Given the description of an element on the screen output the (x, y) to click on. 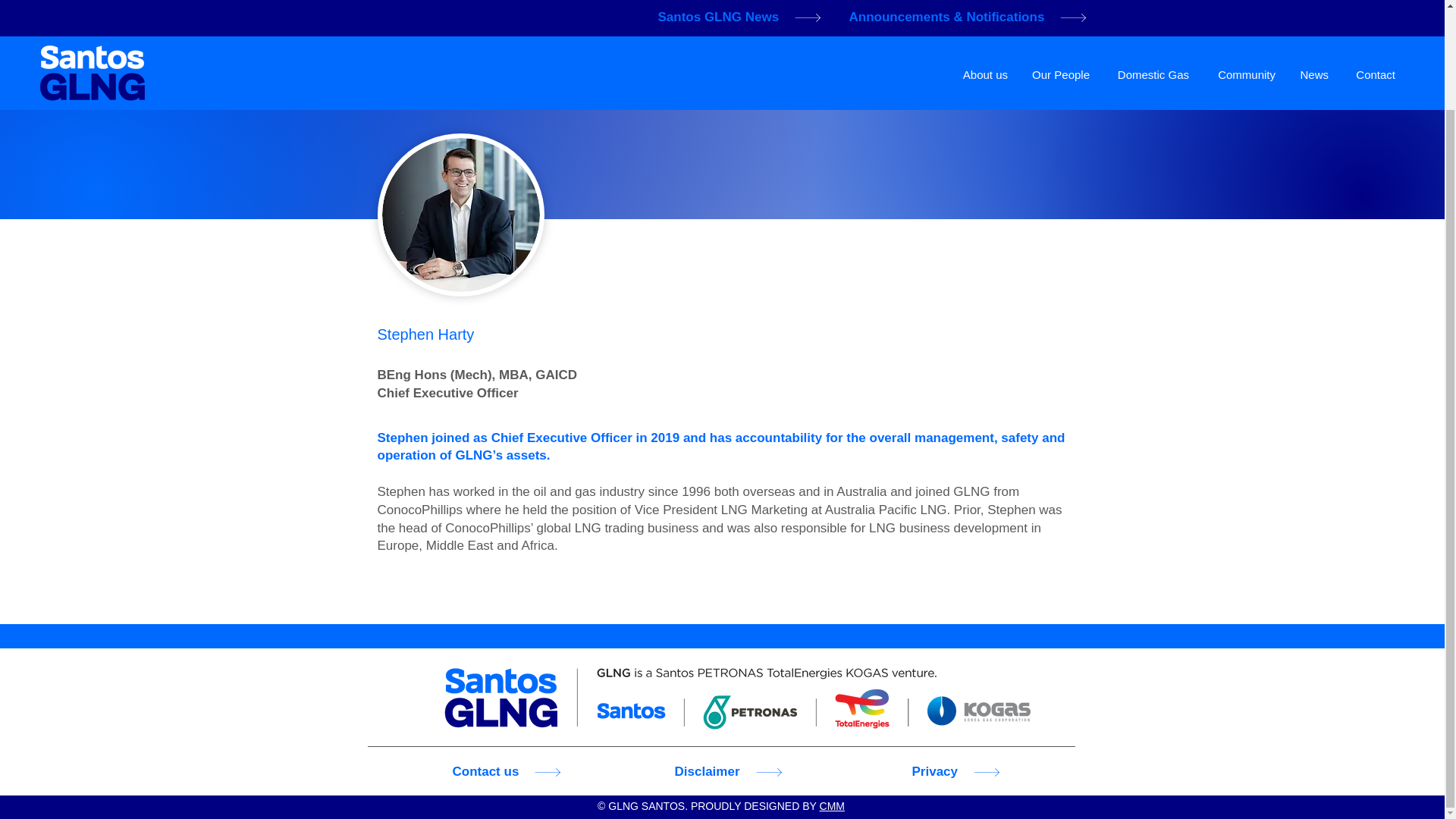
Privacy (973, 772)
CMM (831, 806)
Contact us (512, 772)
Disclaimer (734, 772)
